Given the description of an element on the screen output the (x, y) to click on. 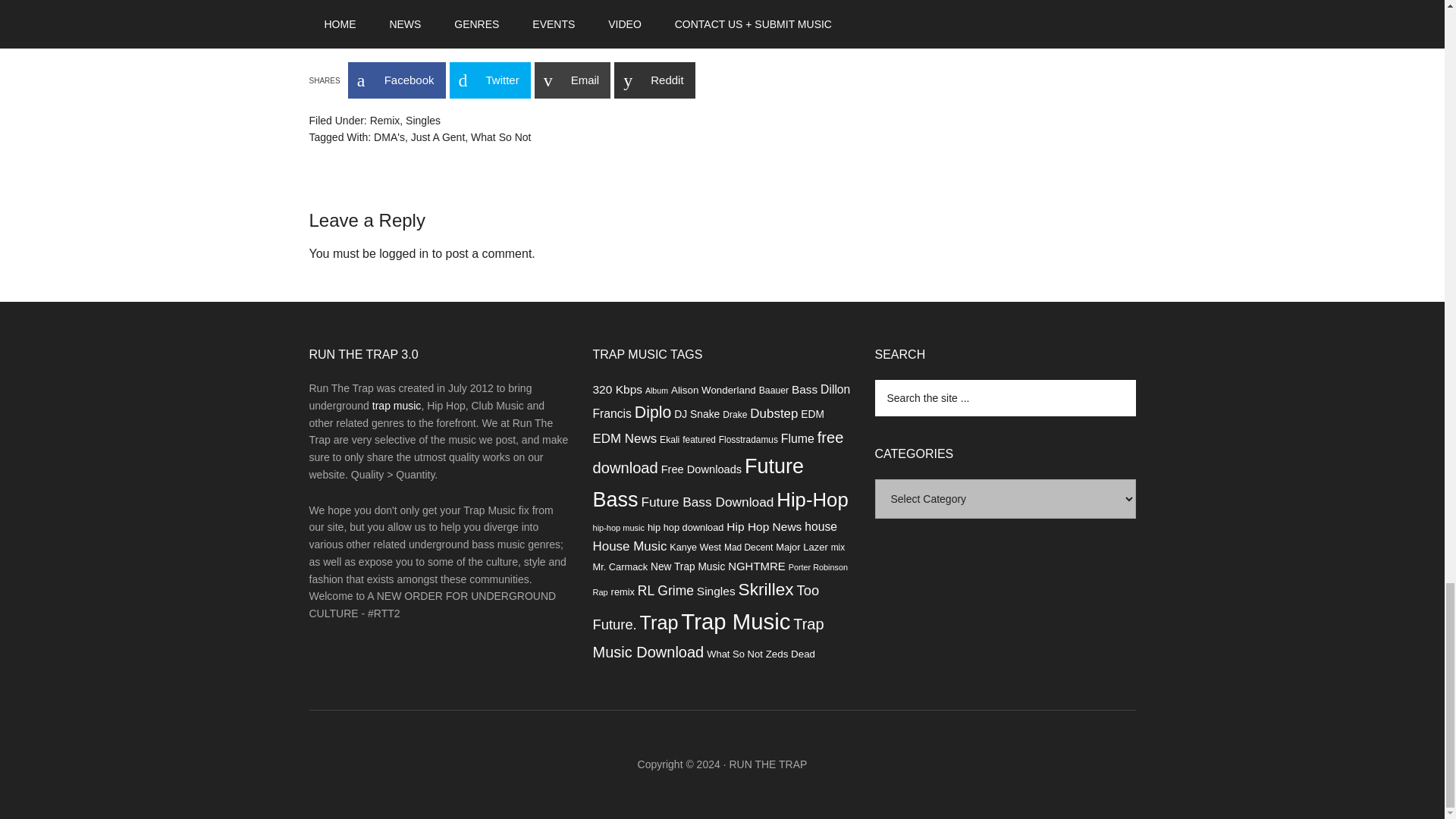
Share on Facebook (396, 80)
Share on Twitter (488, 80)
Share on Reddit (654, 80)
Share on Email (572, 80)
